Given the description of an element on the screen output the (x, y) to click on. 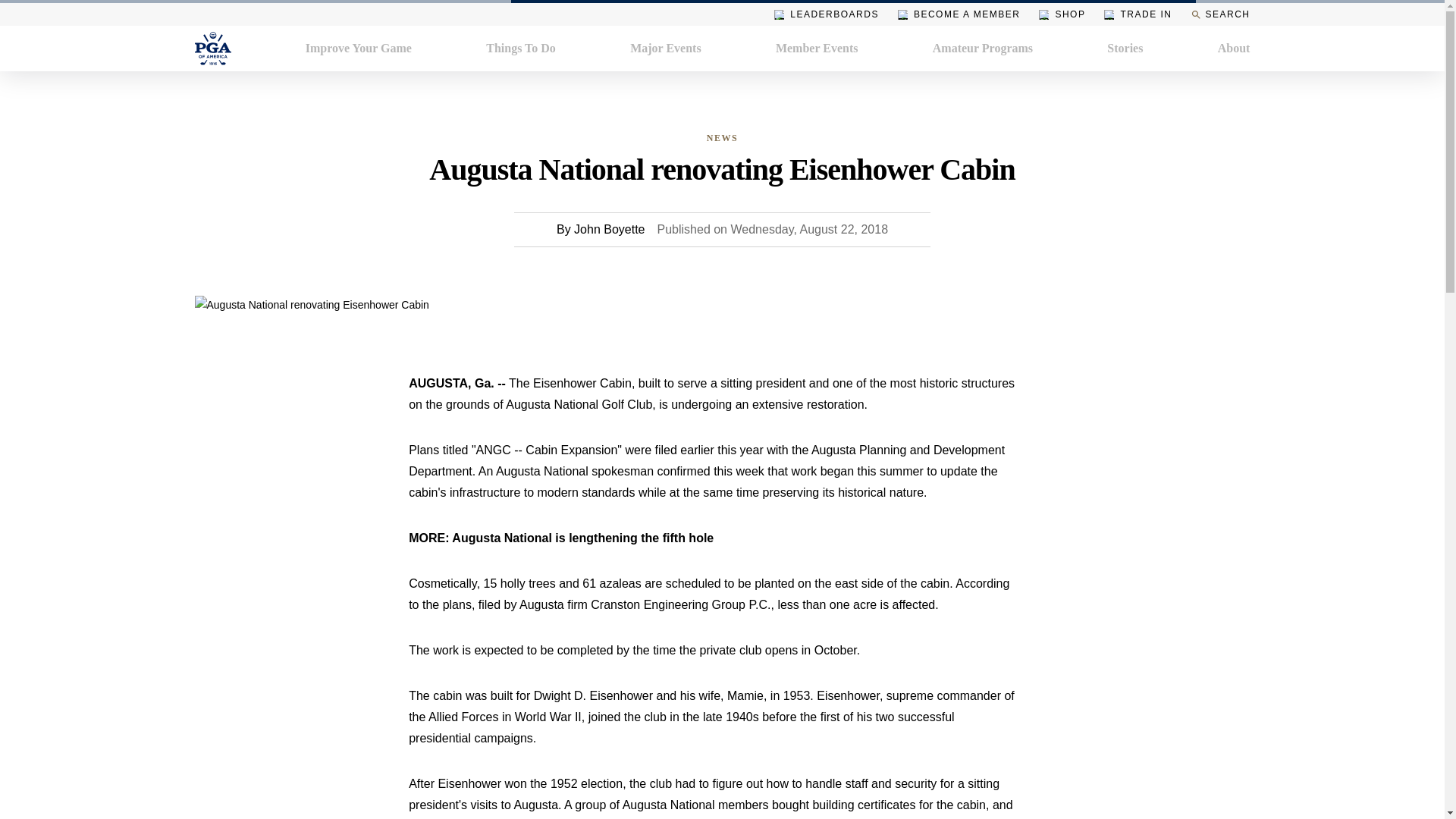
Stories (1124, 48)
Member Events (817, 48)
Major Events (665, 48)
Improve Your Game (358, 48)
About (1233, 48)
PGA Home Page (211, 48)
BECOME A MEMBER (959, 13)
Things To Do (521, 48)
Amateur Programs (982, 48)
LEADERBOARDS (826, 13)
SHOP (1061, 13)
SEARCH (1220, 14)
TRADE IN (1137, 13)
